Given the description of an element on the screen output the (x, y) to click on. 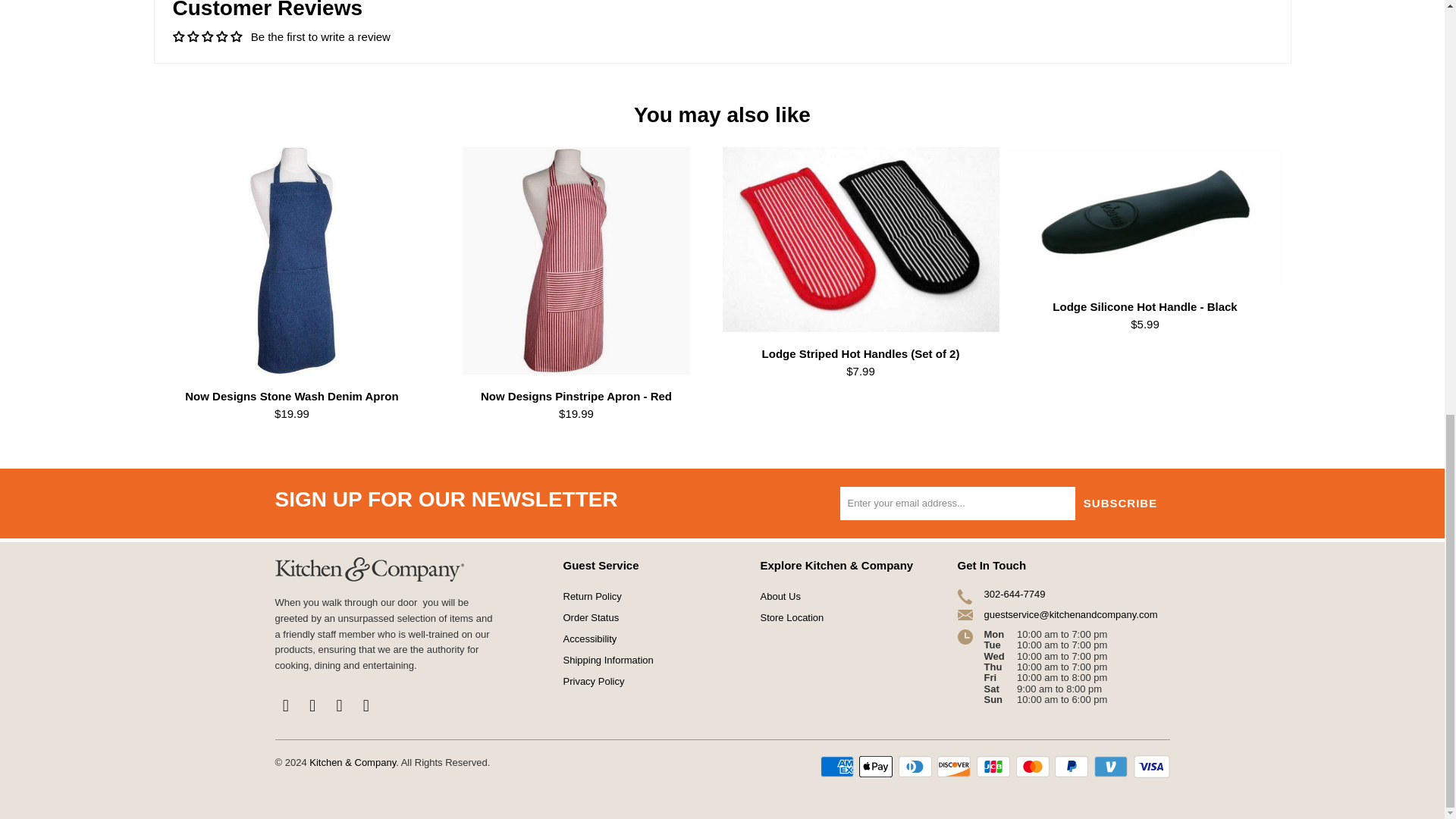
American Express (839, 766)
Visa (1150, 766)
PayPal (1072, 766)
Venmo (1112, 766)
Mastercard (1034, 766)
JCB (994, 766)
Subscribe (1120, 503)
Discover (955, 766)
Apple Pay (877, 766)
Diners Club (916, 766)
